Given the description of an element on the screen output the (x, y) to click on. 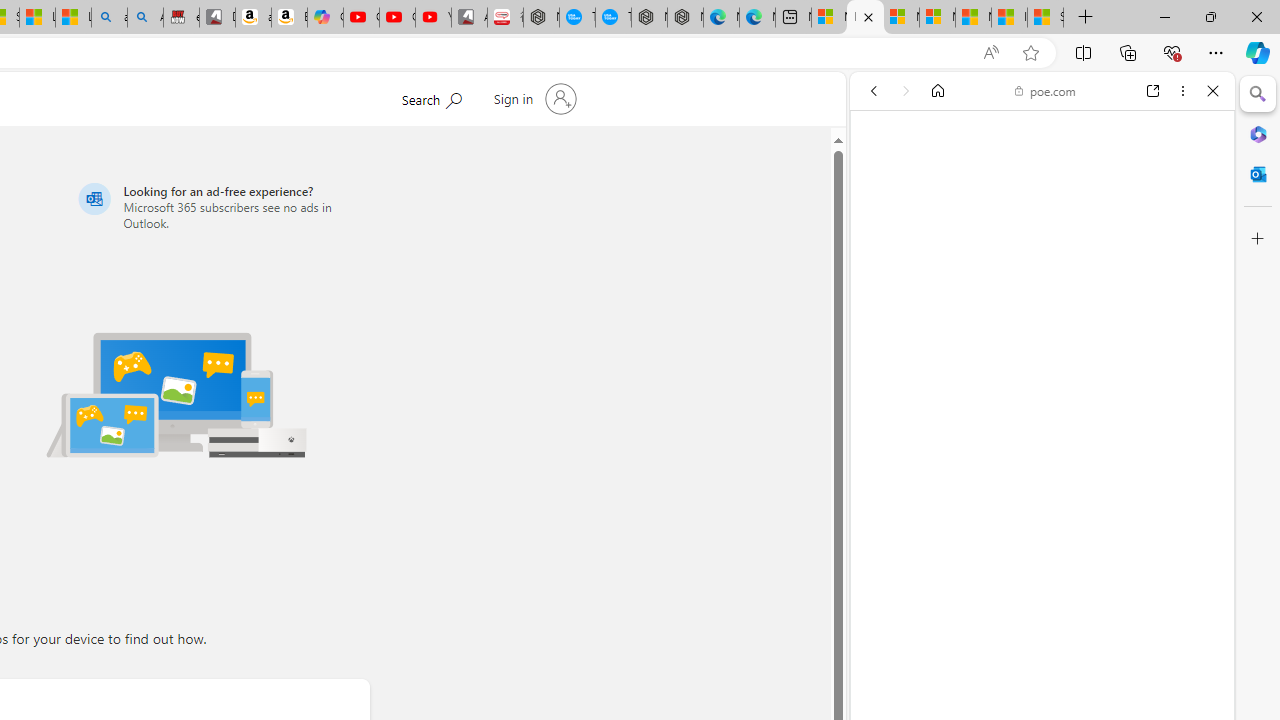
Web scope (882, 180)
Forward (906, 91)
Looking for an ad-free experience? (220, 206)
Class: b_serphb (1190, 229)
Amazon Echo Dot PNG - Search Images (145, 17)
Poe - Fast, Helpful AI Chat (1034, 304)
Fast, Helpful AI Chat (1042, 453)
YouTube Kids - An App Created for Kids to Explore Content (433, 17)
Gloom - YouTube (397, 17)
Learn how your ads are chosen (1029, 585)
